Given the description of an element on the screen output the (x, y) to click on. 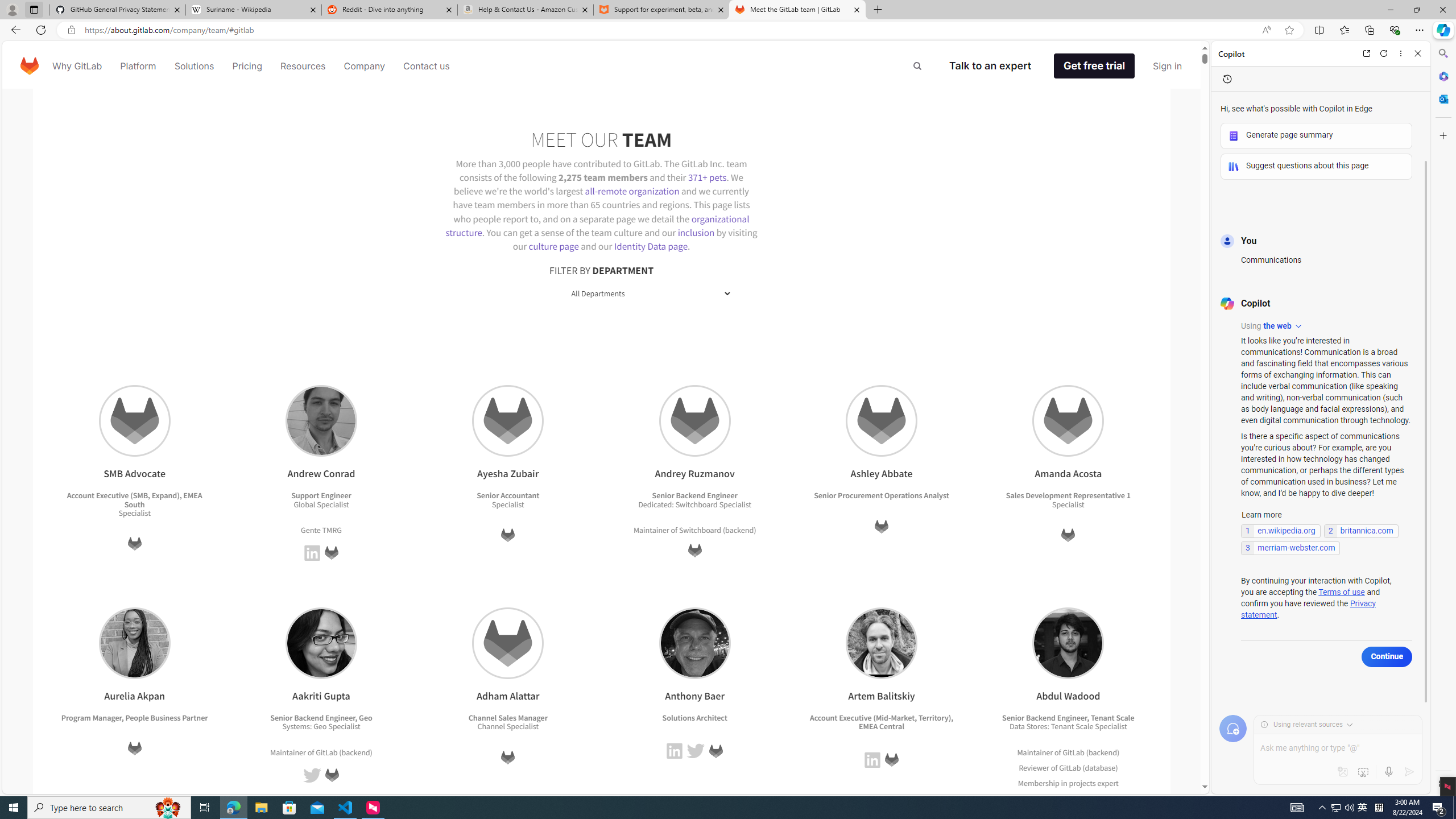
Help & Contact Us - Amazon Customer Service - Sleeping (525, 9)
Specialist (1110, 726)
SMB Advocate (134, 420)
Andrew Conrad (320, 420)
Amanda Acosta (1067, 420)
Senior Accountant (508, 495)
Membership in projects expert (1067, 782)
Ayesha Zubair (508, 420)
Switchboard (700, 529)
